Given the description of an element on the screen output the (x, y) to click on. 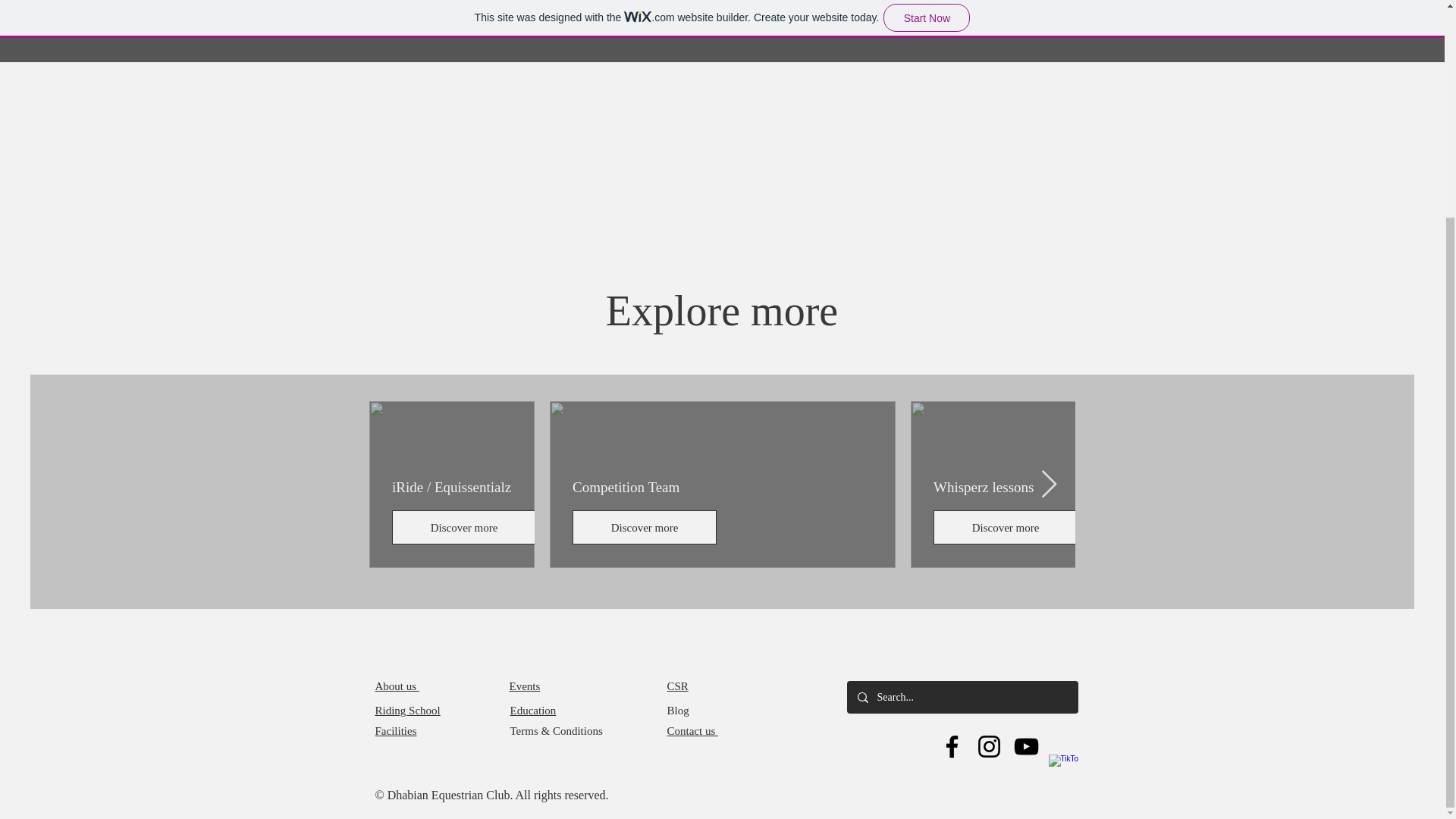
About us  (396, 686)
Discover more (1005, 527)
Discover more (644, 527)
Riding School (406, 710)
Events (524, 686)
Discover more (1185, 527)
Contact us  (692, 730)
Facilities (395, 730)
CSR (677, 686)
Education (532, 710)
